Given the description of an element on the screen output the (x, y) to click on. 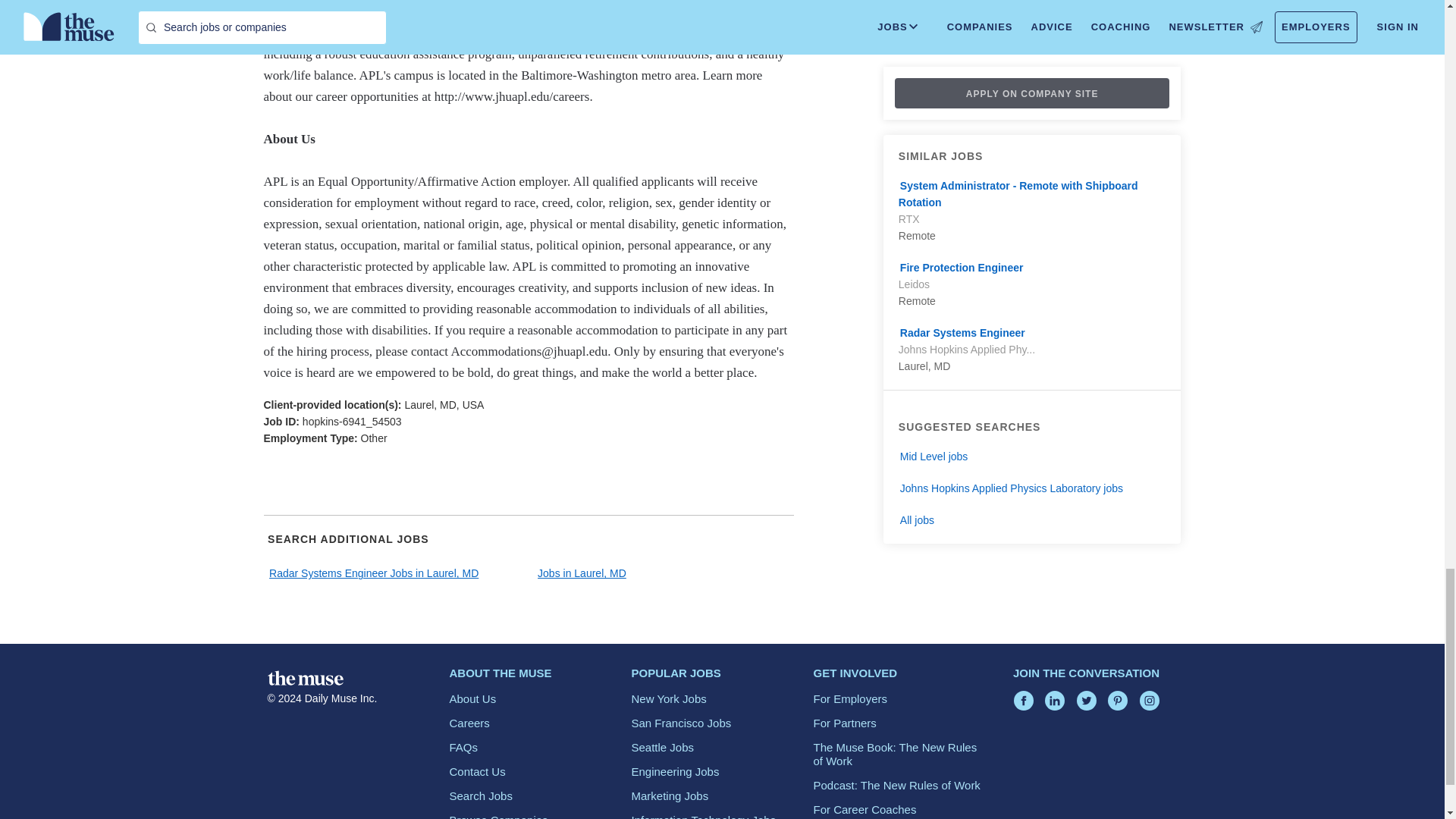
The Muse LogoA logo with "the muse" in white text. (304, 677)
